Given the description of an element on the screen output the (x, y) to click on. 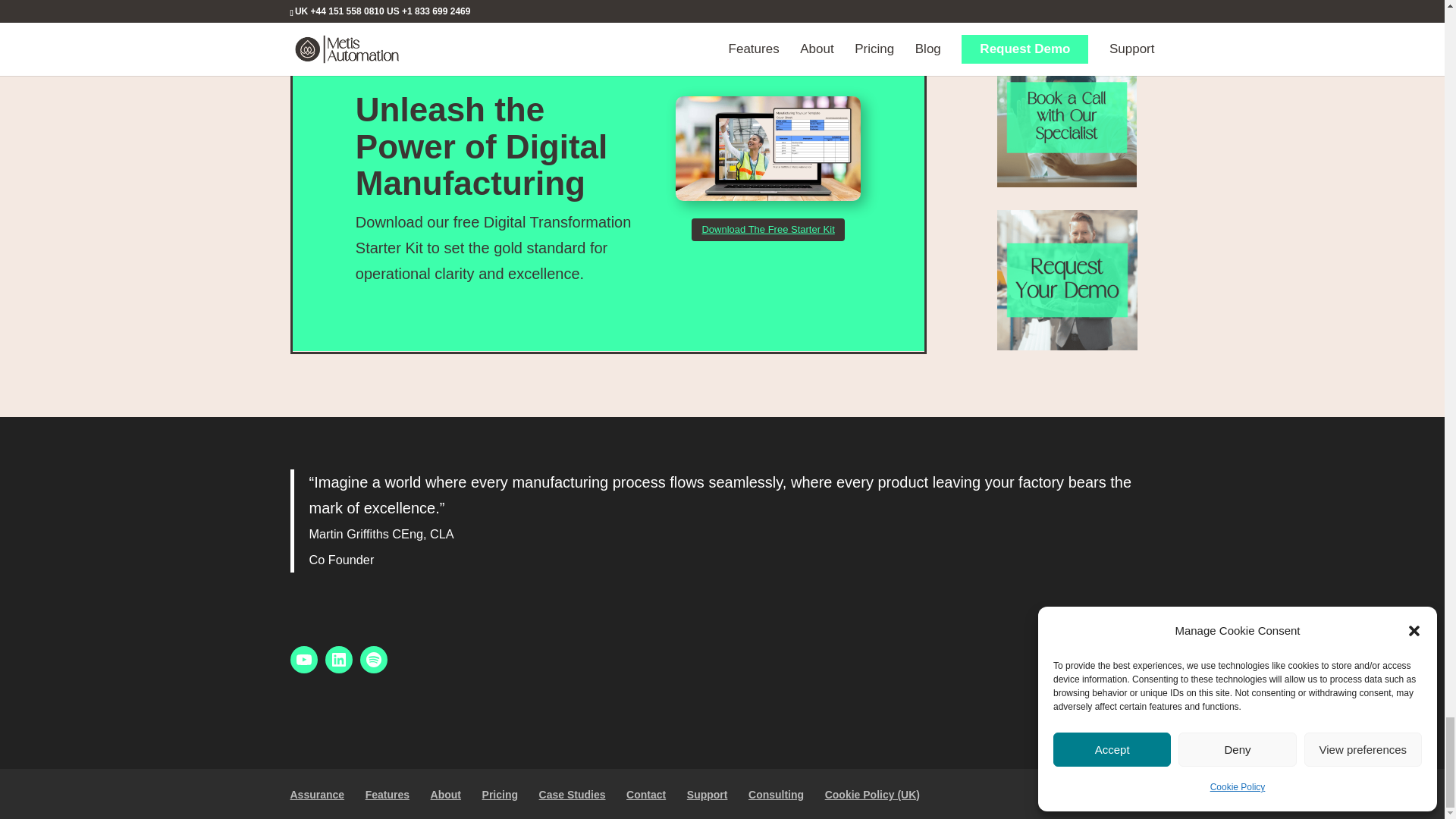
Download The Free Starter Kit (767, 229)
Starter Kit (768, 148)
YouTube (303, 659)
